Given the description of an element on the screen output the (x, y) to click on. 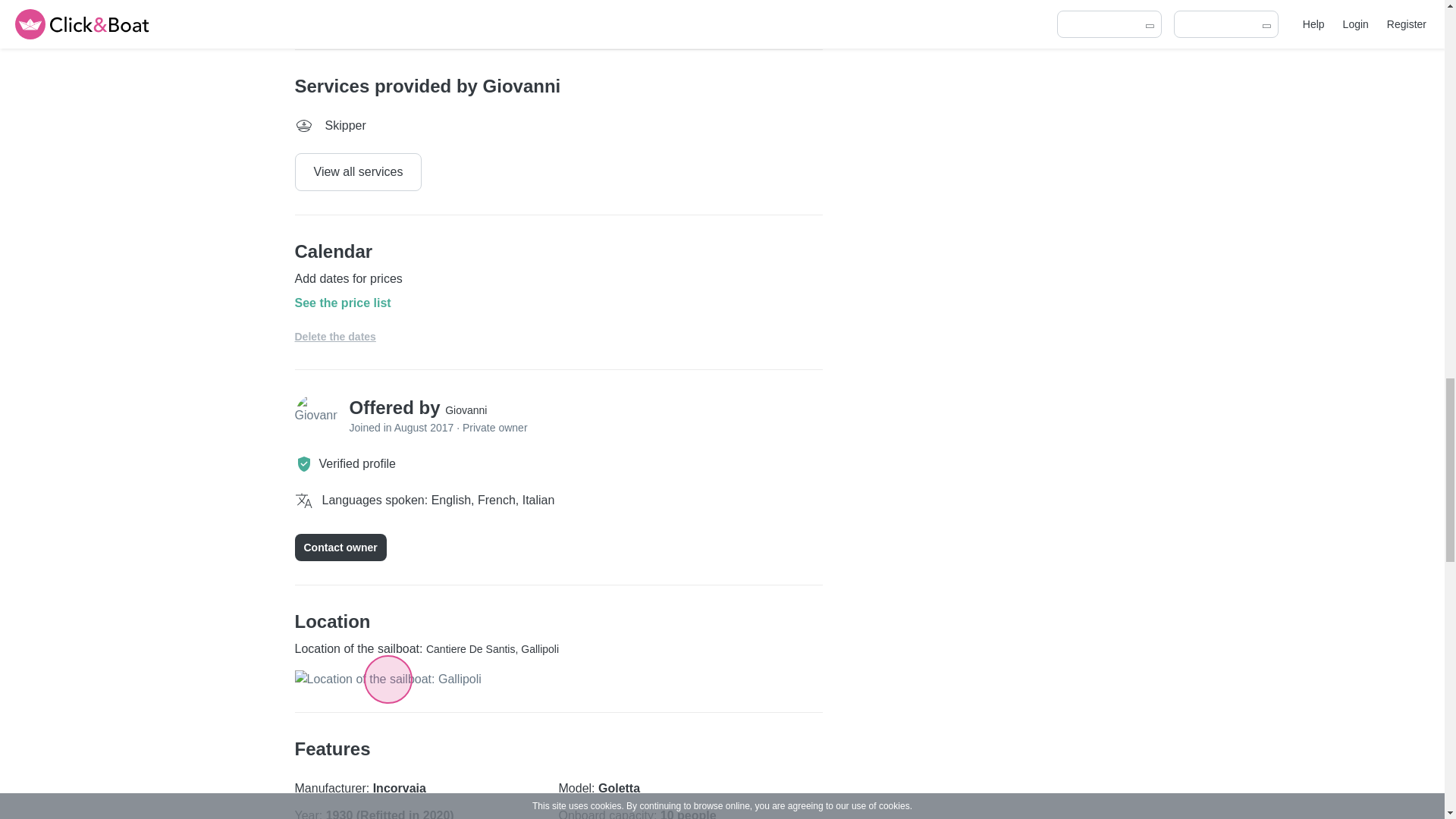
Giovanni (465, 410)
Contact owner (339, 547)
Delete the dates (334, 336)
See the price list (558, 303)
